Given the description of an element on the screen output the (x, y) to click on. 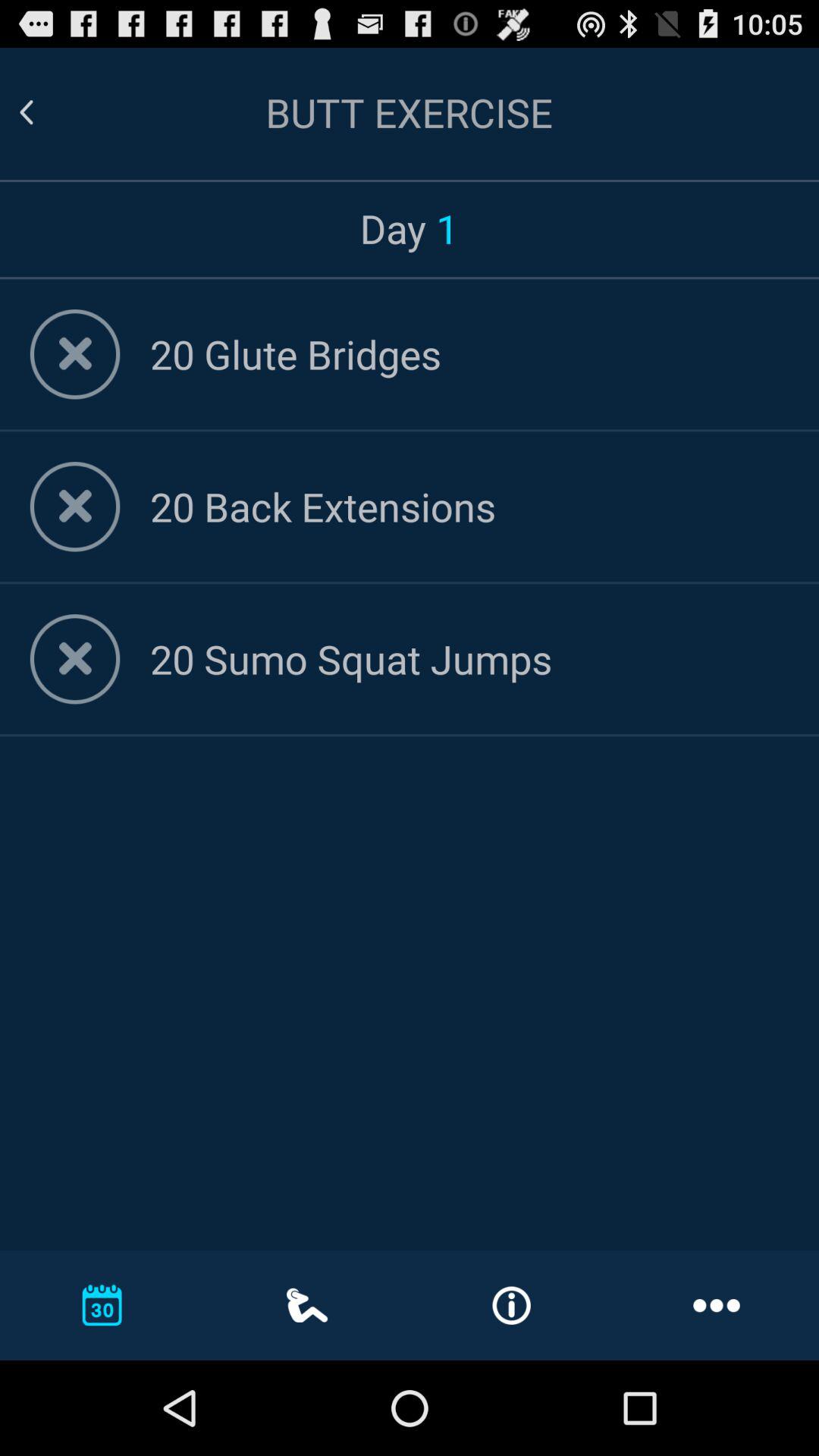
select the app below 20 glute bridges app (469, 506)
